Given the description of an element on the screen output the (x, y) to click on. 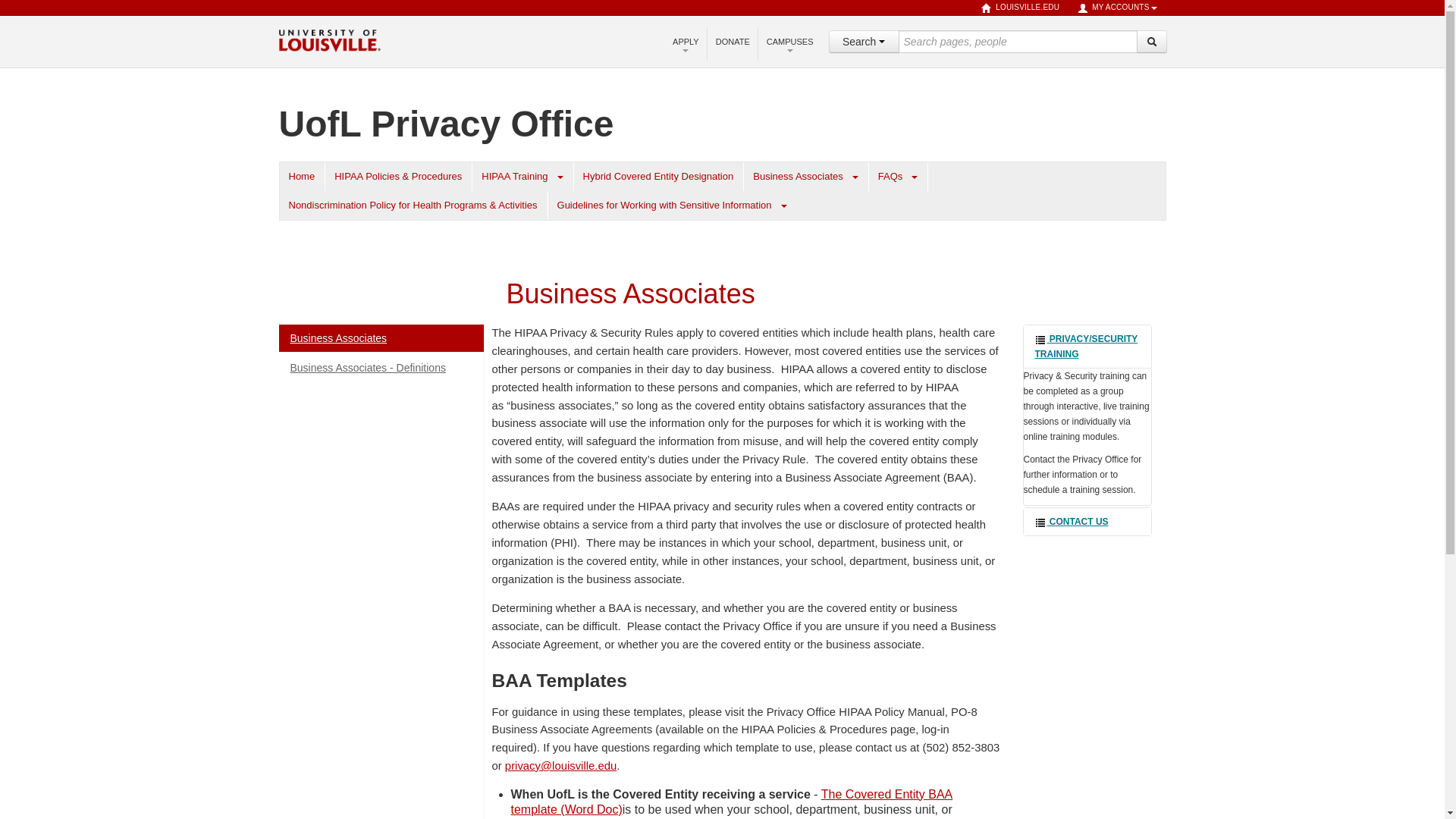
MY ACCOUNTS (1117, 7)
APPLY (685, 43)
University of Louisville (329, 39)
LOUISVILLE.EDU (1020, 7)
Search (1150, 41)
Search  (863, 41)
